Given the description of an element on the screen output the (x, y) to click on. 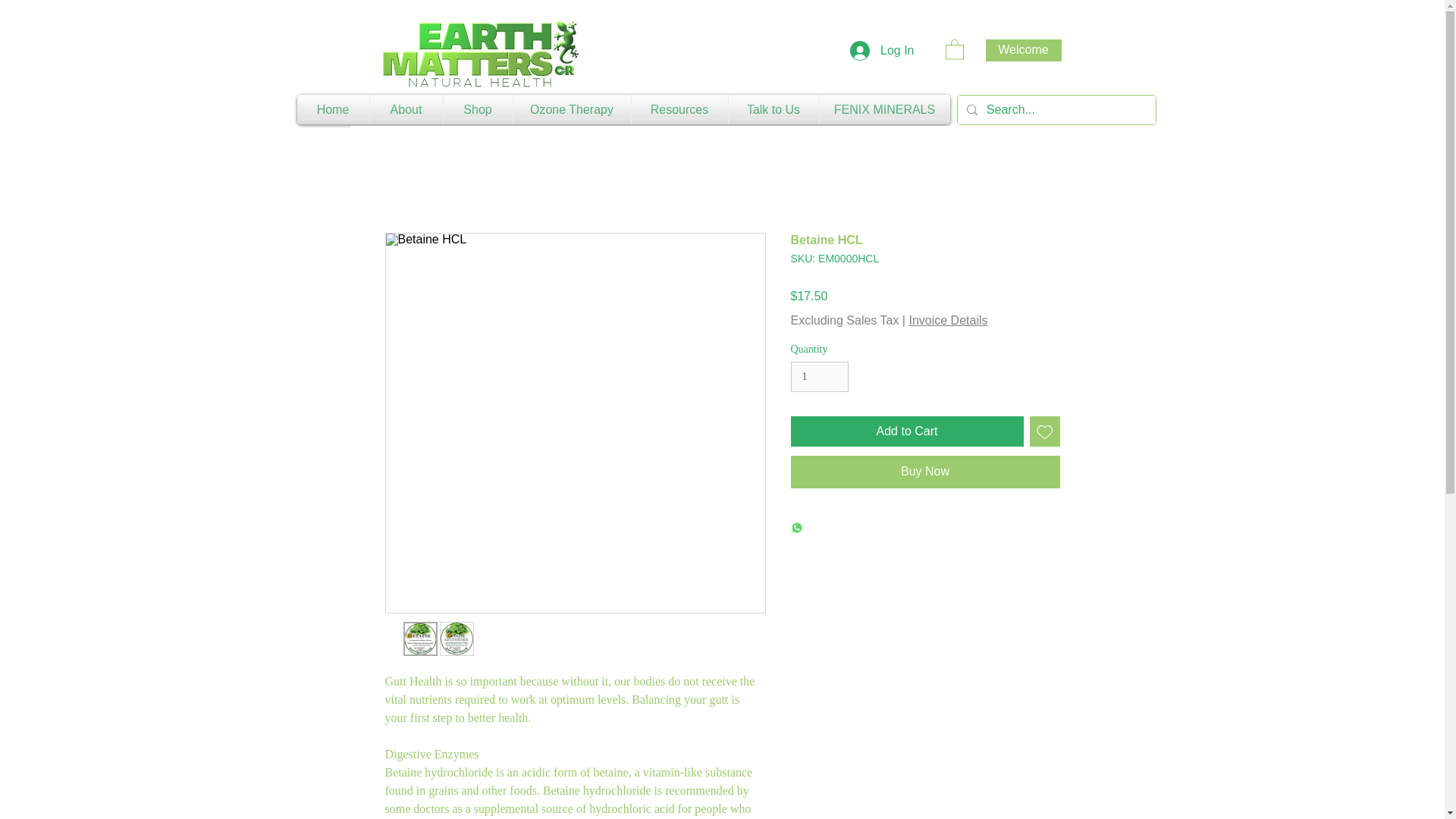
Talk to Us (773, 109)
Ozone Therapy (571, 109)
Invoice Details (947, 320)
Shop (477, 109)
Home (333, 109)
Log In (882, 50)
Add to Cart (906, 431)
Resources (678, 109)
FENIX MINERALS (883, 109)
1 (818, 377)
